Given the description of an element on the screen output the (x, y) to click on. 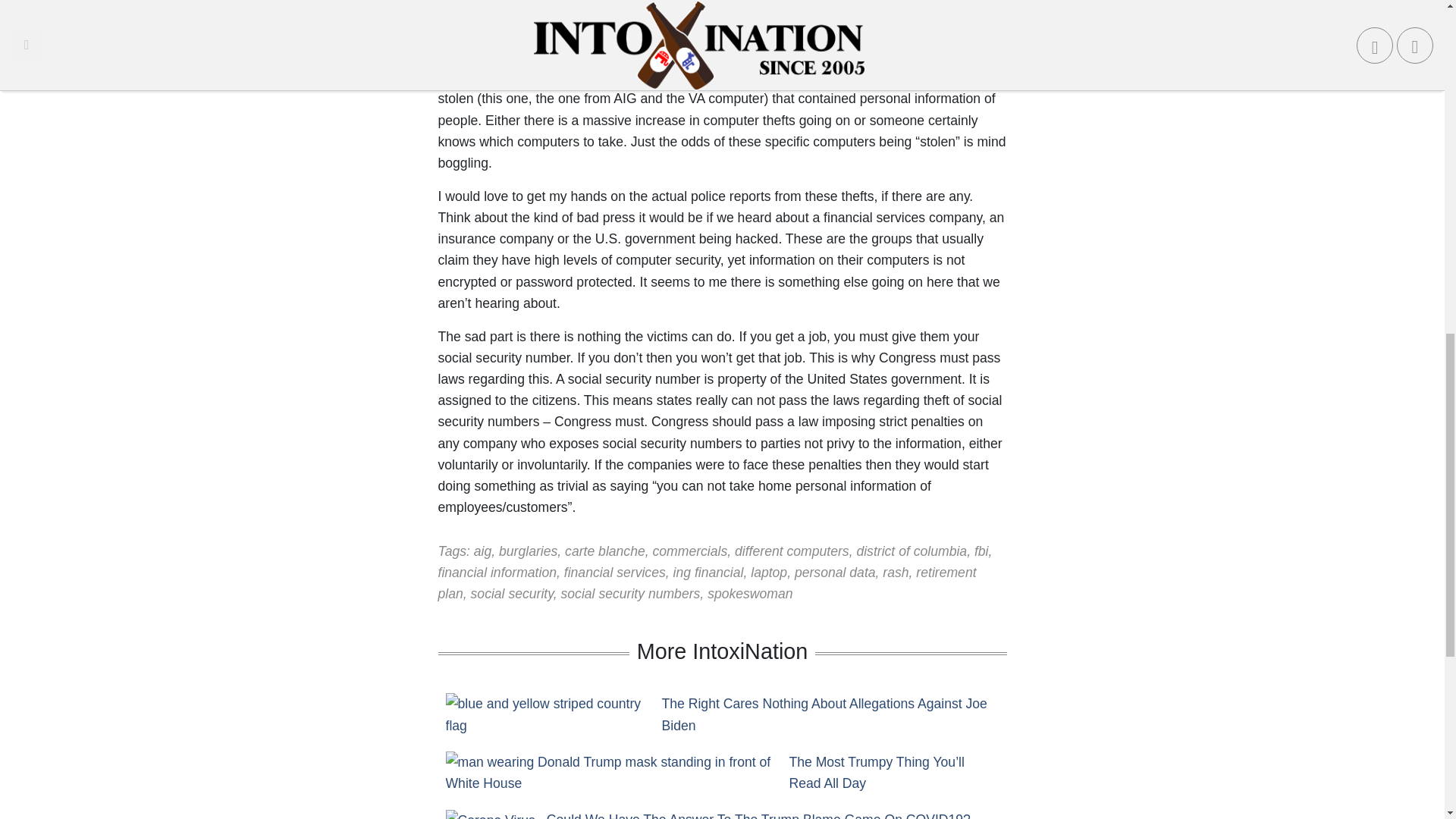
laptop (769, 572)
spokeswoman (749, 593)
financial services (614, 572)
financial information (497, 572)
aig (483, 550)
The Right Cares Nothing About Allegations Against Joe Biden (830, 713)
burglaries (528, 550)
different computers (791, 550)
fbi (981, 550)
district of columbia (911, 550)
